Given the description of an element on the screen output the (x, y) to click on. 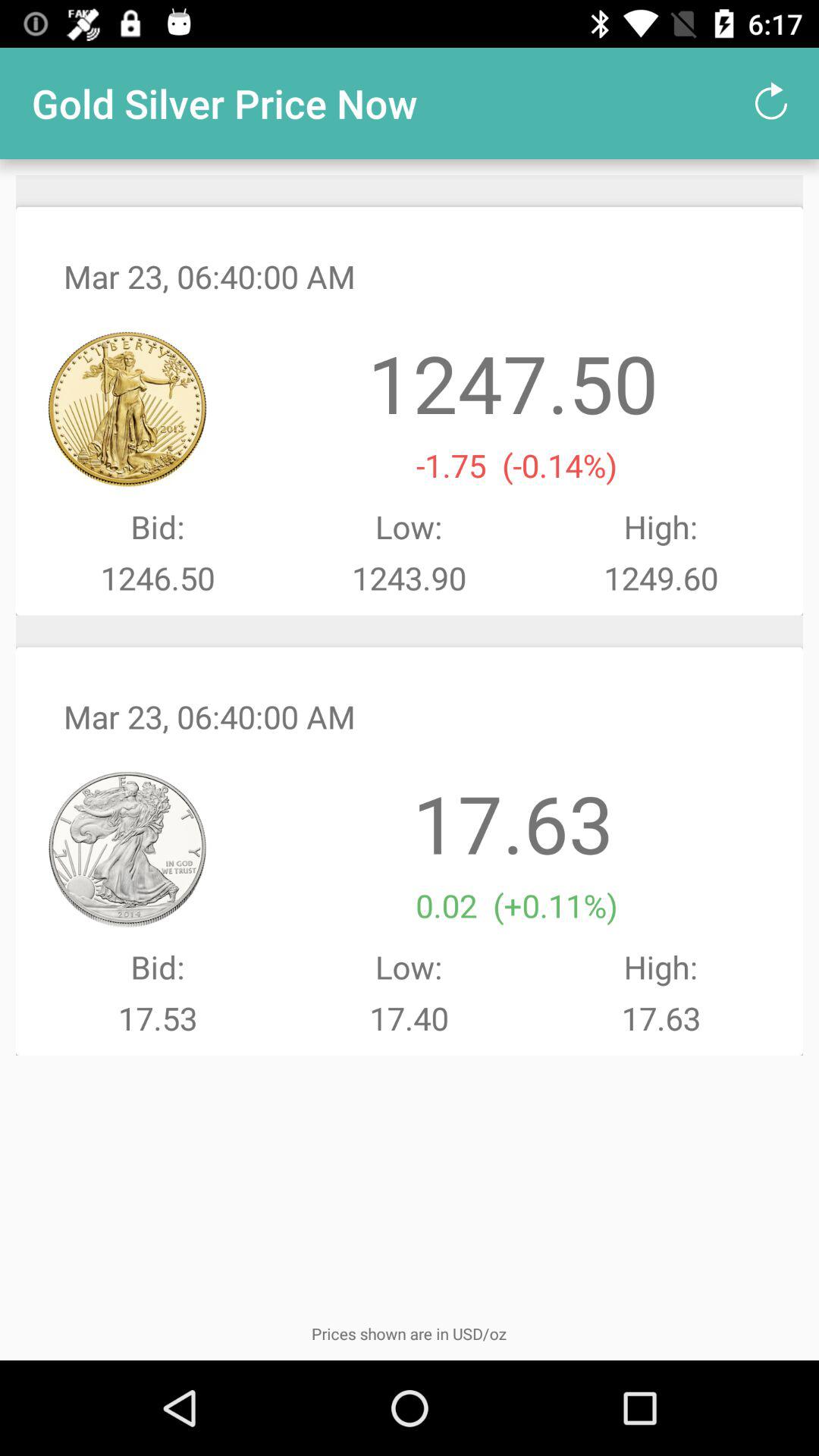
refresh (771, 103)
